Given the description of an element on the screen output the (x, y) to click on. 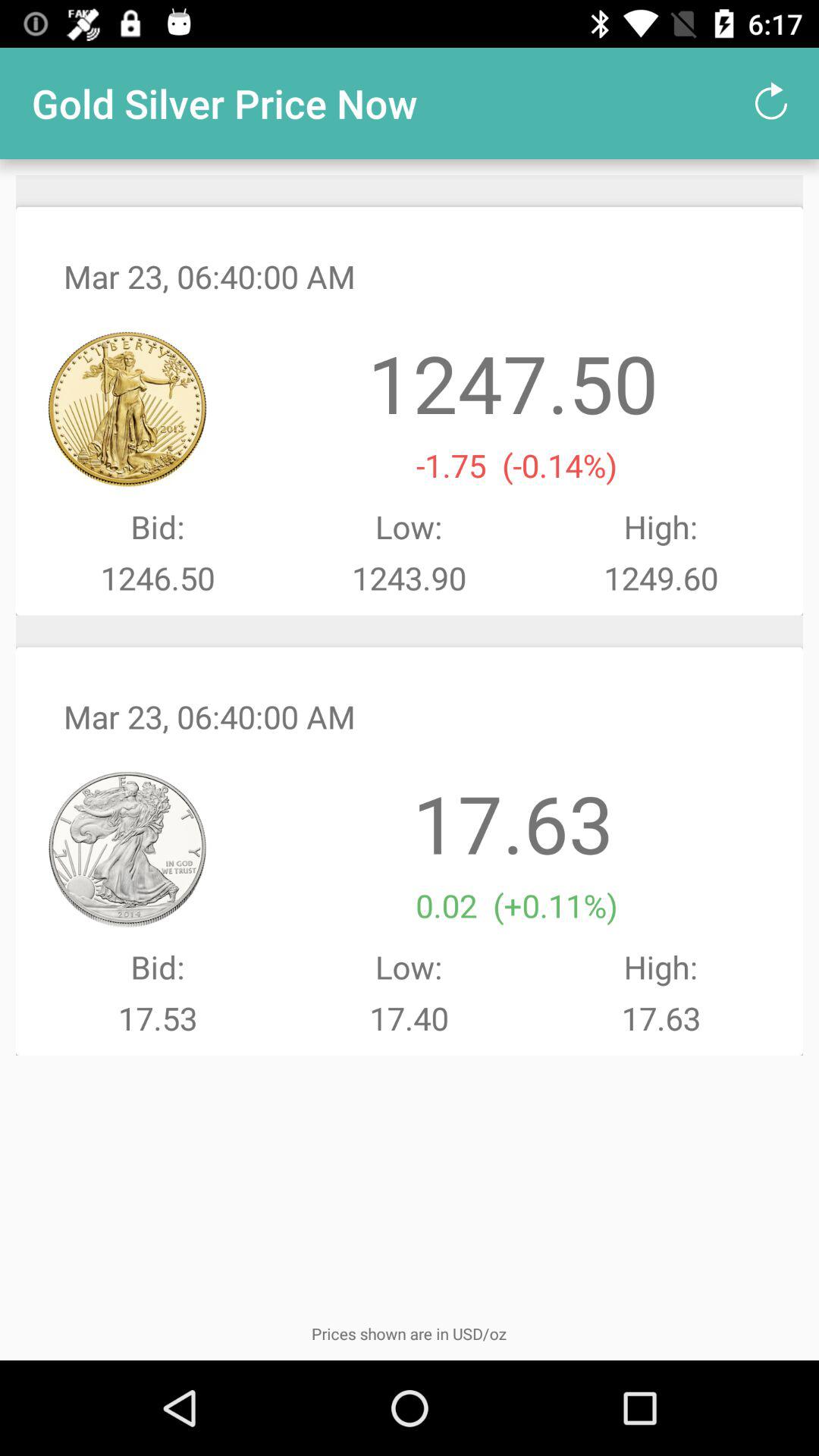
refresh (771, 103)
